Given the description of an element on the screen output the (x, y) to click on. 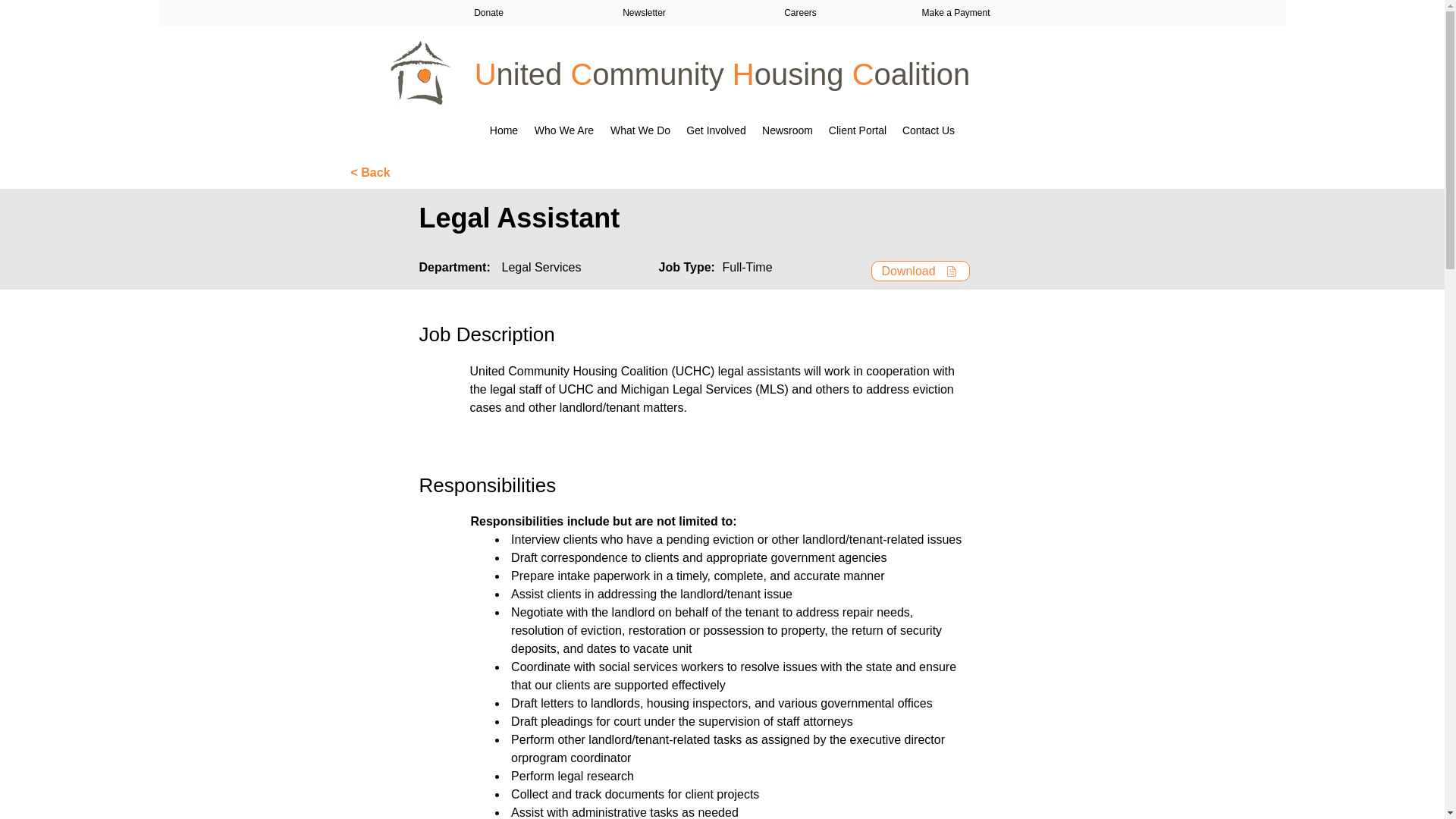
Download (919, 271)
Donate (489, 12)
Newsletter (643, 12)
Newsroom (787, 130)
Make a Payment (956, 12)
Get Involved (716, 130)
Contact Us (928, 130)
Client Portal (857, 130)
What We Do (640, 130)
Who We Are (563, 130)
Home (503, 130)
Careers (799, 12)
